Given the description of an element on the screen output the (x, y) to click on. 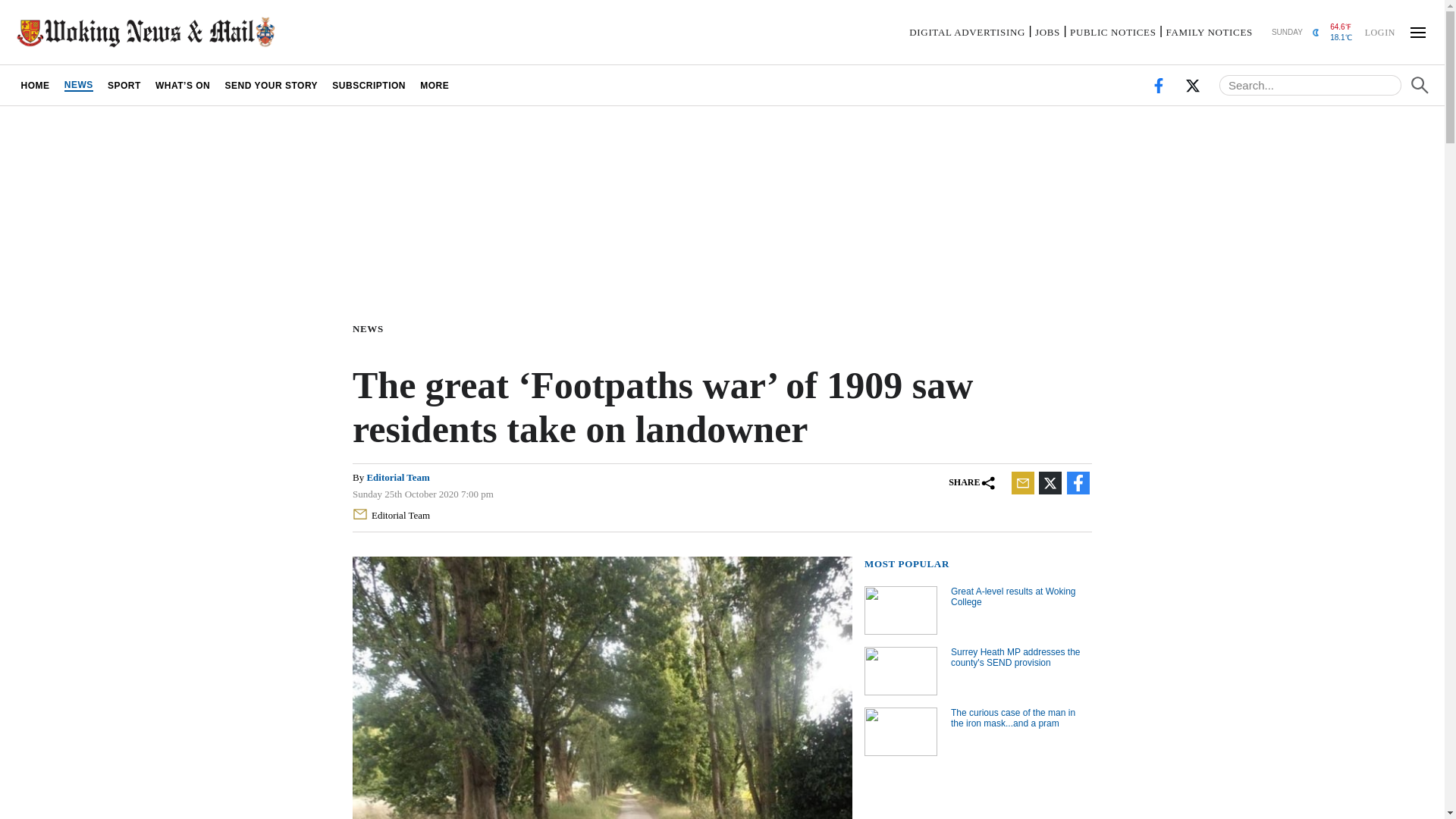
NEWS (78, 85)
NEWS (371, 328)
FAMILY NOTICES (1209, 32)
LOGIN (1379, 31)
Editorial Team (397, 477)
SPORT (124, 85)
Editorial Team (395, 515)
SUBSCRIPTION (368, 85)
HOME (34, 85)
MORE (435, 85)
